Given the description of an element on the screen output the (x, y) to click on. 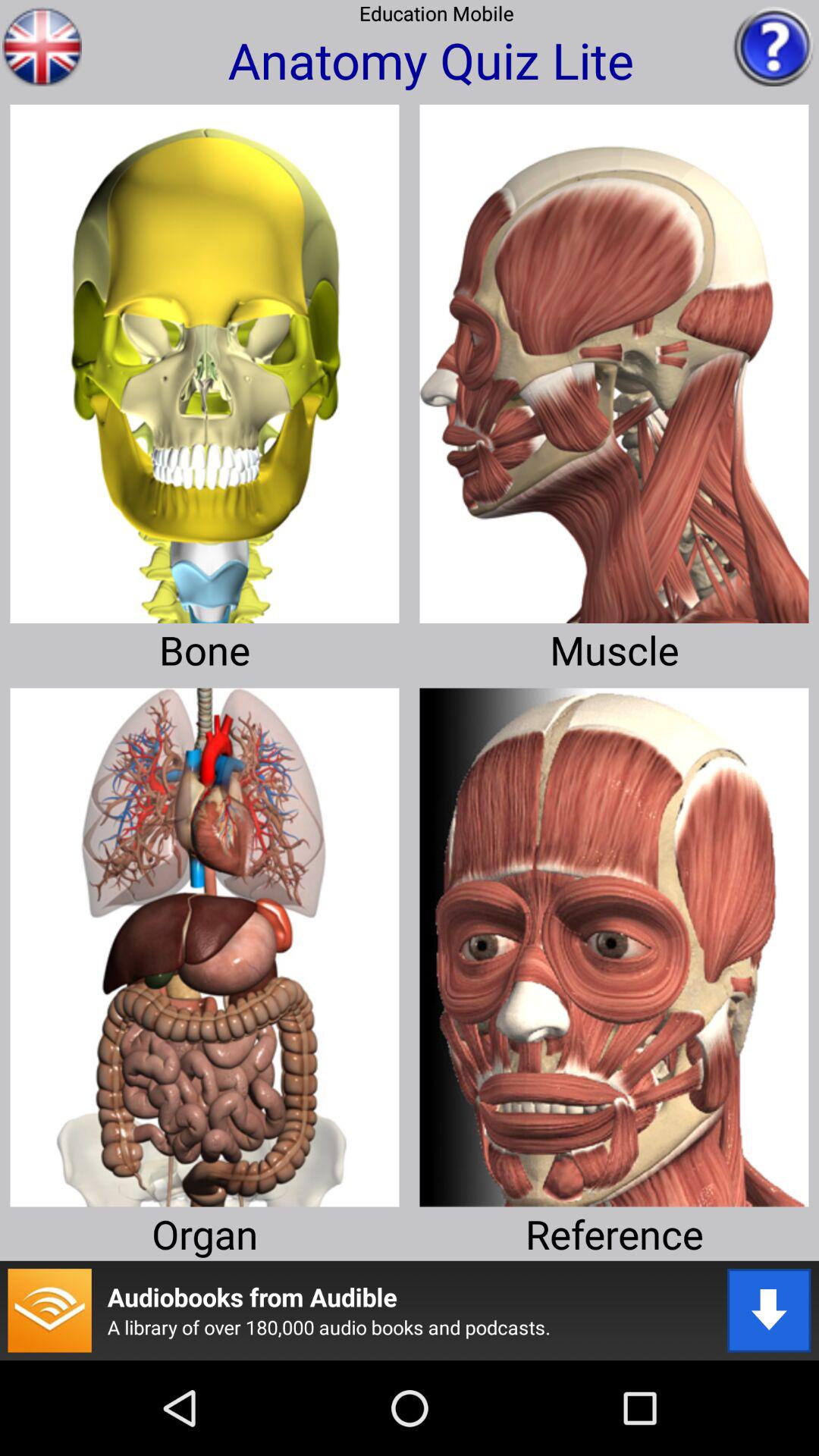
access reference image (613, 941)
